Given the description of an element on the screen output the (x, y) to click on. 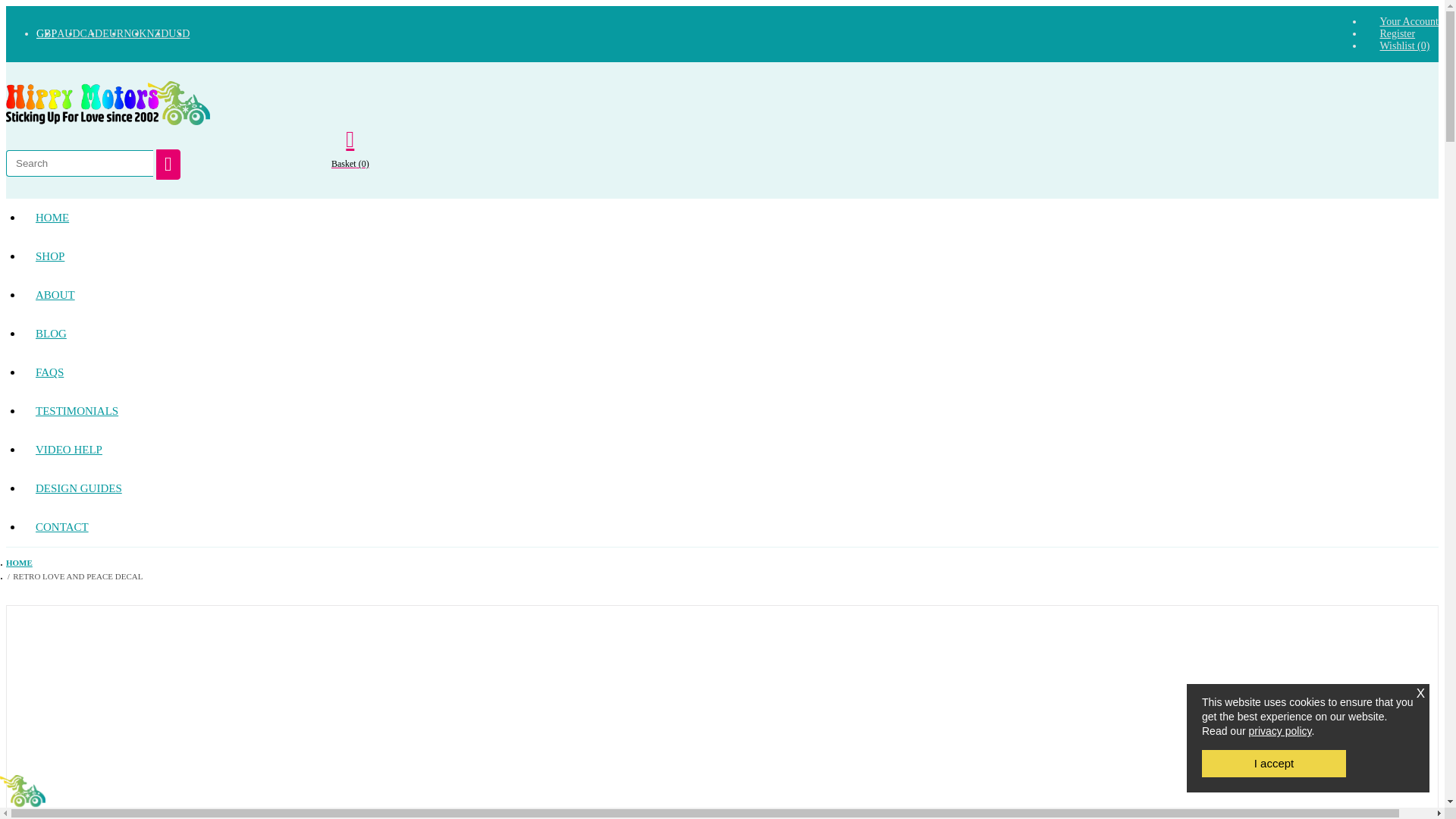
BLOG (51, 333)
VIDEO HELP (69, 449)
TESTIMONIALS (77, 411)
HOME (52, 218)
ABOUT (55, 295)
FAQS (50, 372)
EUR (112, 33)
GBP (46, 33)
SHOP (50, 256)
NOK (135, 33)
Register (1396, 33)
Your Account (1408, 21)
USD (178, 33)
CAD (91, 33)
AUD (68, 33)
